Given the description of an element on the screen output the (x, y) to click on. 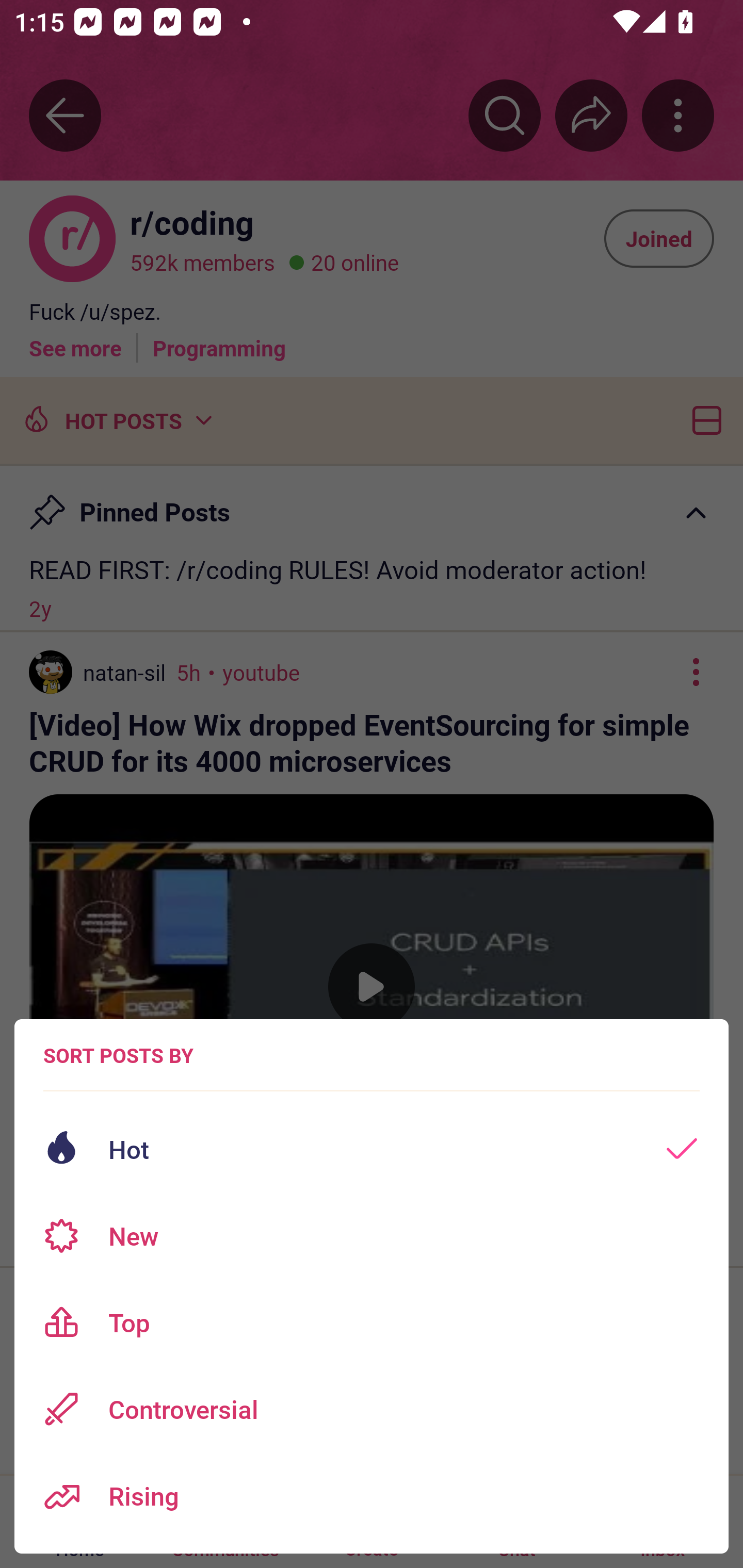
SORT POSTS BY Sort posts options (118, 1055)
Hot (371, 1149)
New (371, 1236)
Top (371, 1322)
Controversial (371, 1408)
Rising (371, 1495)
